Given the description of an element on the screen output the (x, y) to click on. 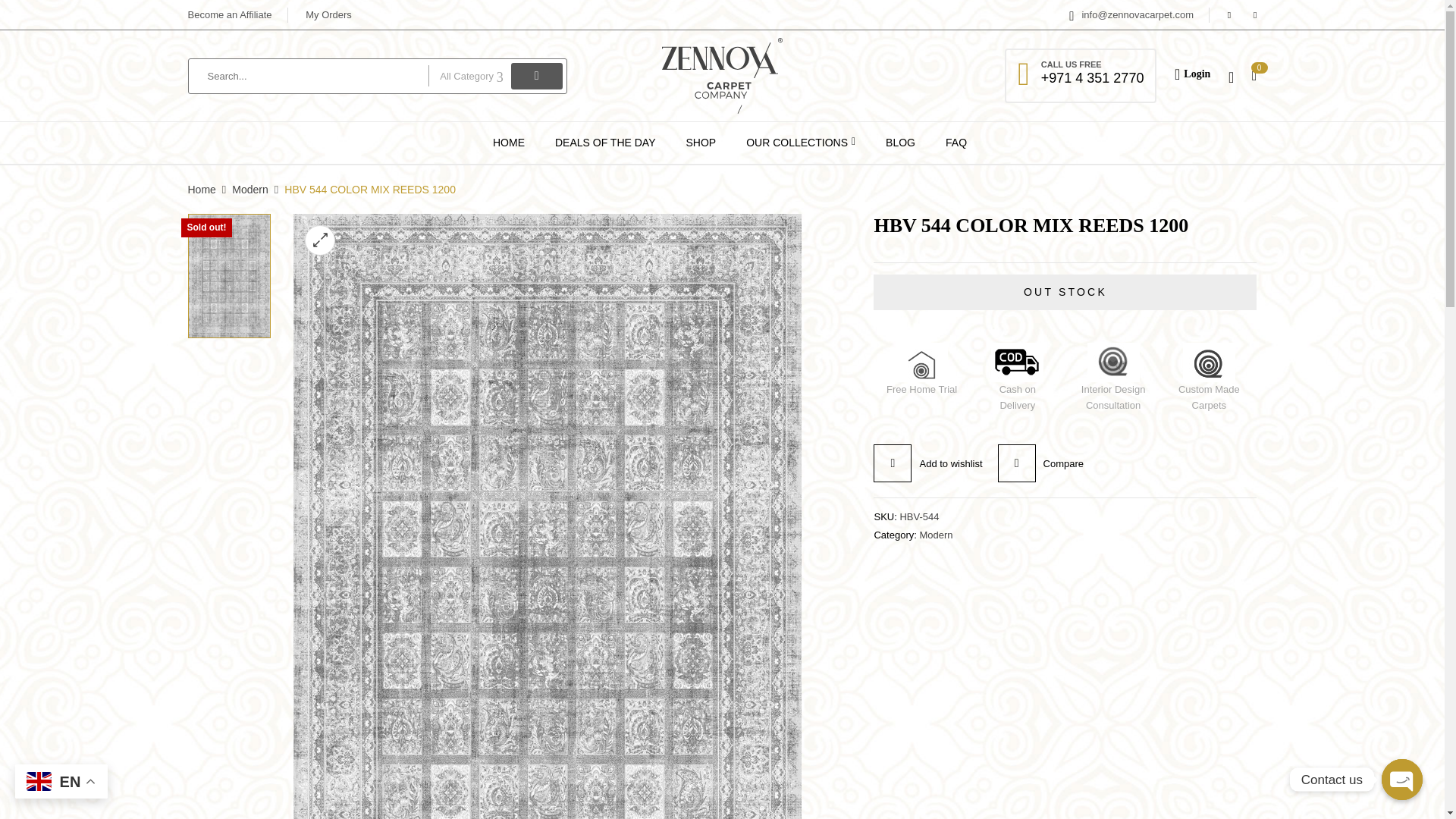
Modern (935, 534)
FAQ (955, 142)
BLOG (900, 142)
Compare (1040, 463)
0 (1254, 75)
Home (201, 189)
DEALS OF THE DAY (605, 142)
Modern (249, 189)
View your shopping cart (1254, 75)
Add to wishlist (927, 463)
search (536, 75)
SHOP (700, 142)
My Orders (328, 14)
Become an Affiliate (229, 14)
c5aeb42c-a65c-46dd-b9c5-a5d490cbdca5 (228, 275)
